Given the description of an element on the screen output the (x, y) to click on. 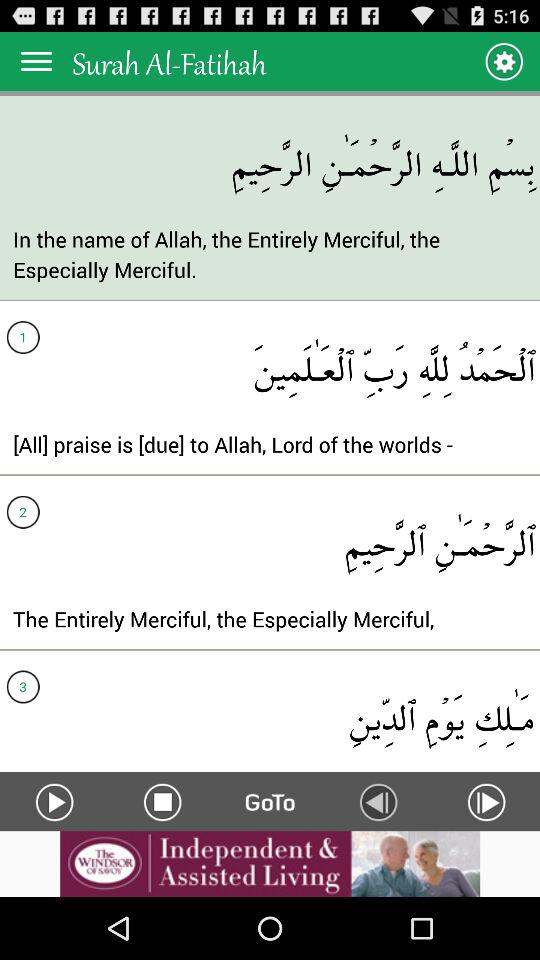
app settings (503, 60)
